Given the description of an element on the screen output the (x, y) to click on. 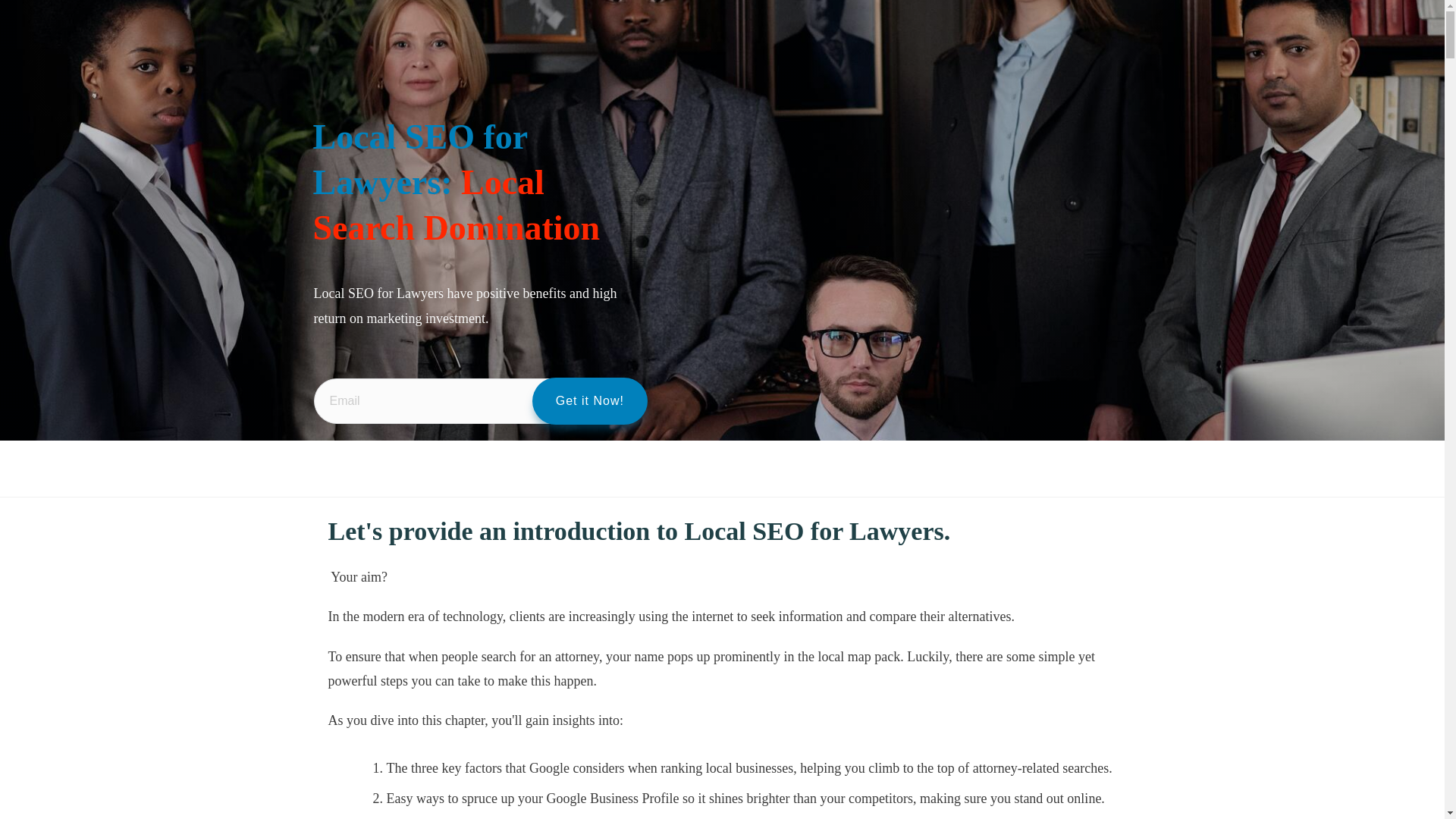
Get it Now! (589, 401)
